Given the description of an element on the screen output the (x, y) to click on. 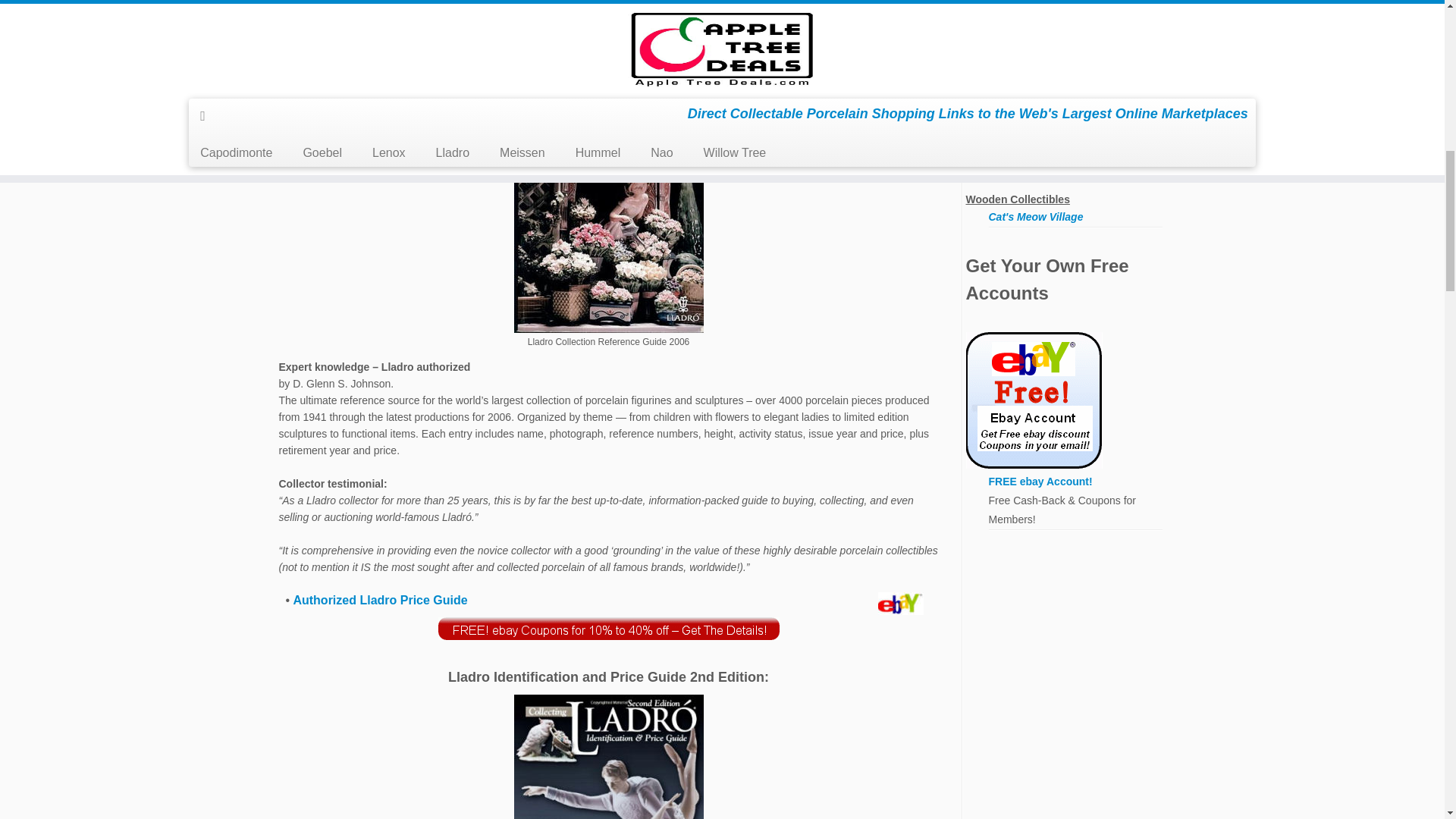
See prices for the Official Lladro figurines price guide (608, 185)
Authorized Lladro Price Guide (379, 599)
Goebel (1006, 37)
Capodimonte Marks (1062, 16)
Lladro (1005, 76)
MI Hummel (1016, 56)
Capodimonte (1022, 2)
Free ebay discount coupon offer! (608, 629)
See prices for the Official Lladro figurines price guide (379, 599)
